Given the description of an element on the screen output the (x, y) to click on. 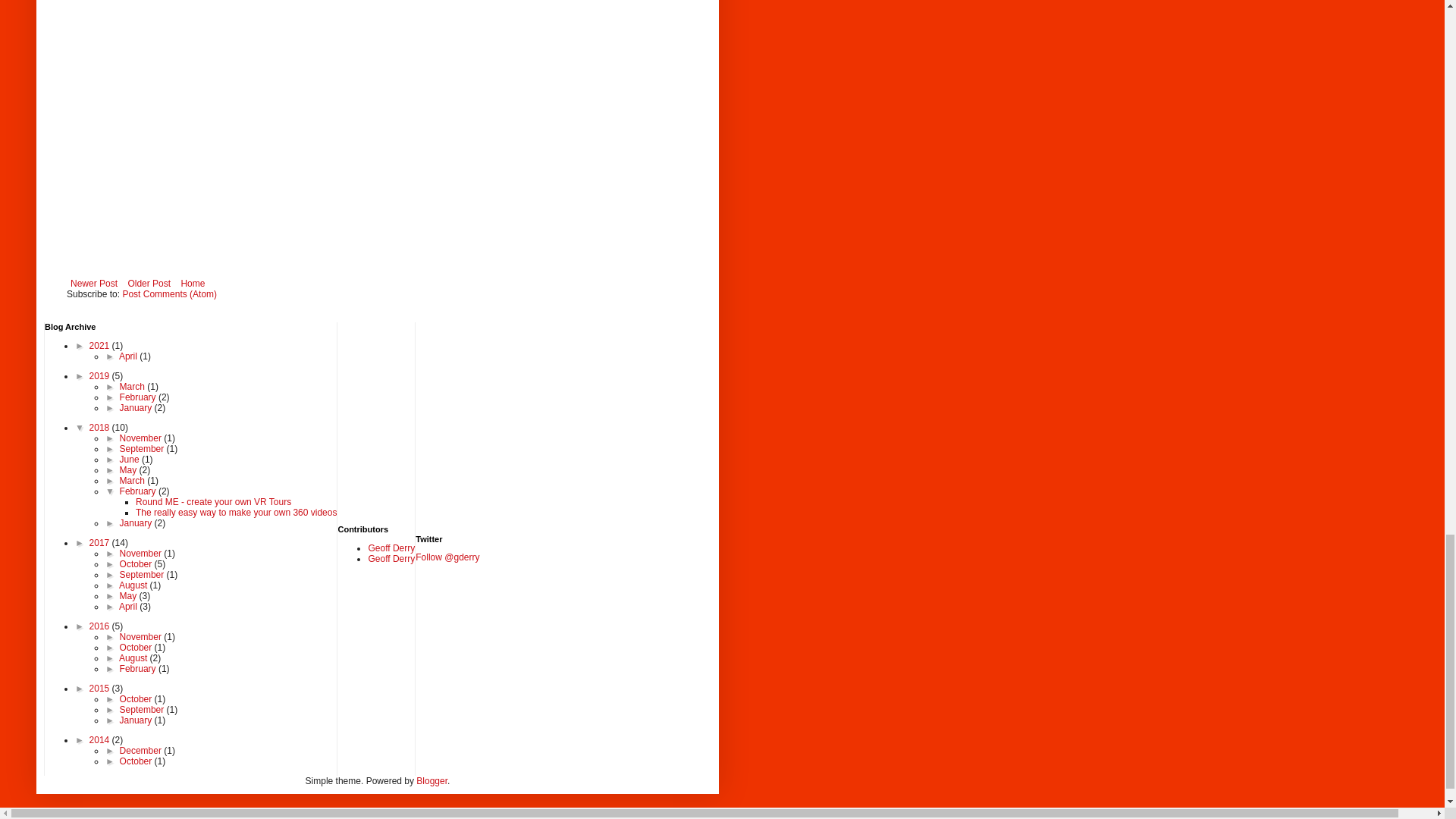
2021 (100, 345)
Home (192, 283)
April (129, 356)
Older Post (148, 283)
Newer Post (93, 283)
Newer Post (93, 283)
2019 (100, 376)
Older Post (148, 283)
